Given the description of an element on the screen output the (x, y) to click on. 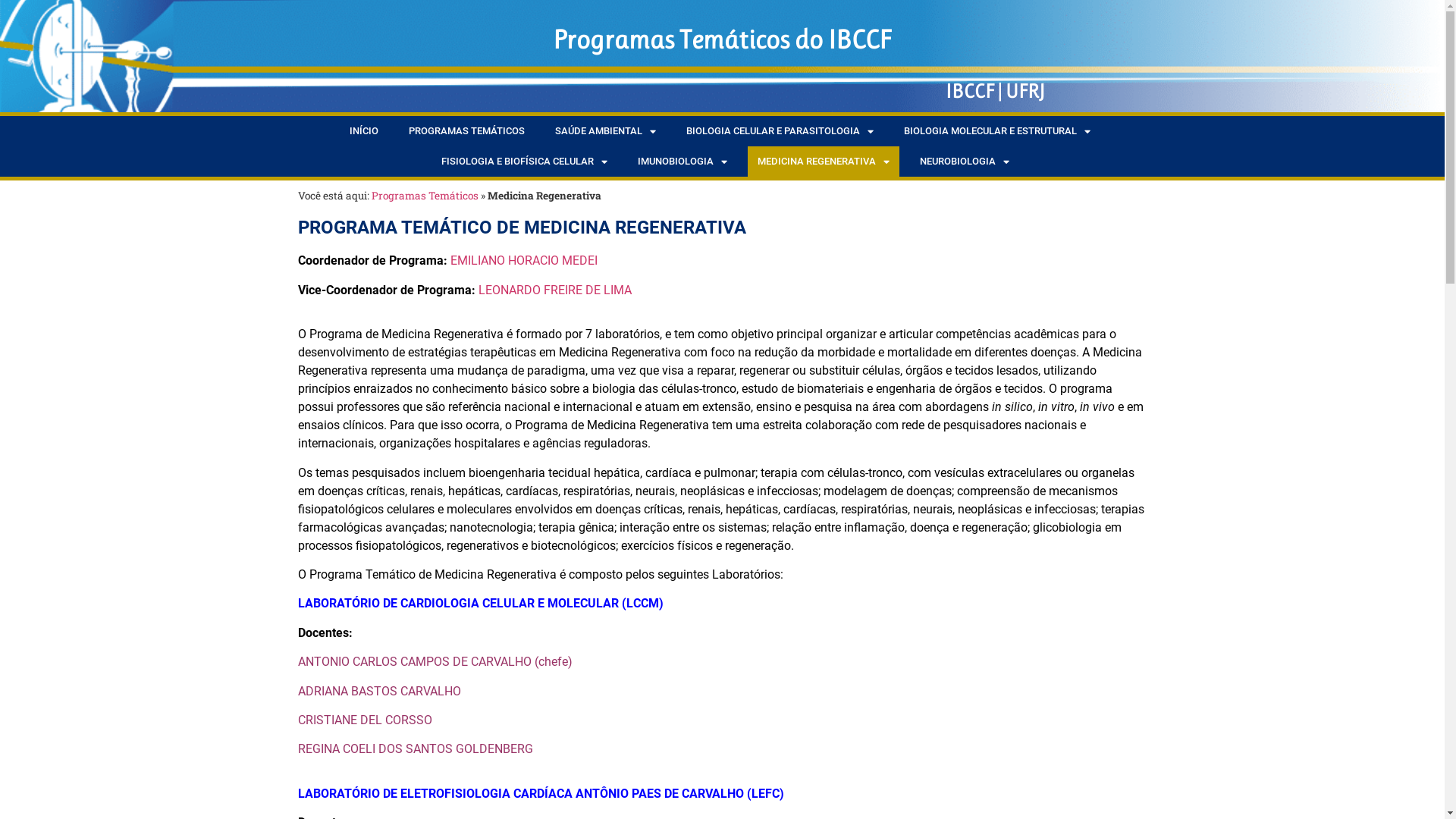
ADRIANA BASTOS CARVALHO Element type: text (378, 691)
REGINA COELI DOS SANTOS GOLDENBERG Element type: text (414, 748)
ANTONIO CARLOS CAMPOS DE CARVALHO (chefe) Element type: text (434, 661)
NEUROBIOLOGIA Element type: text (964, 161)
CRISTIANE DEL CORSSO Element type: text (364, 719)
IMUNOBIOLOGIA Element type: text (682, 161)
BIOLOGIA MOLECULAR E ESTRUTURAL Element type: text (996, 131)
EMILIANO HORACIO MEDEI Element type: text (523, 260)
LEONARDO FREIRE DE LIMA Element type: text (553, 289)
BIOLOGIA CELULAR E PARASITOLOGIA Element type: text (779, 131)
MEDICINA REGENERATIVA Element type: text (823, 161)
